Given the description of an element on the screen output the (x, y) to click on. 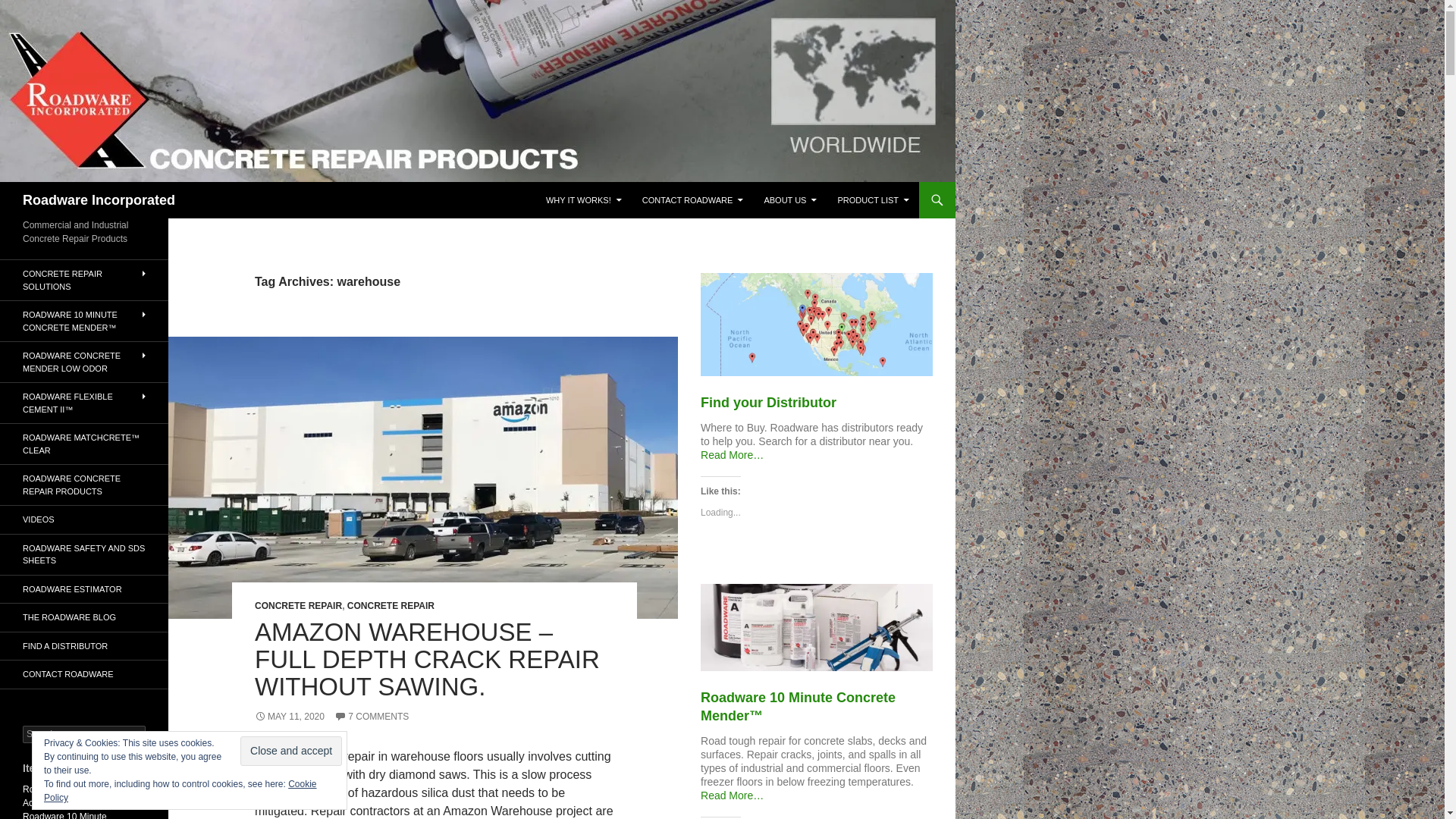
MAY 11, 2020 (289, 716)
CONCRETE REPAIR (390, 605)
Roadware Incorporated (98, 199)
CONCRETE REPAIR (298, 605)
ABOUT US (789, 199)
PRODUCT LIST (873, 199)
7 COMMENTS (371, 716)
Close and accept (291, 750)
CONTACT ROADWARE (692, 199)
